Given the description of an element on the screen output the (x, y) to click on. 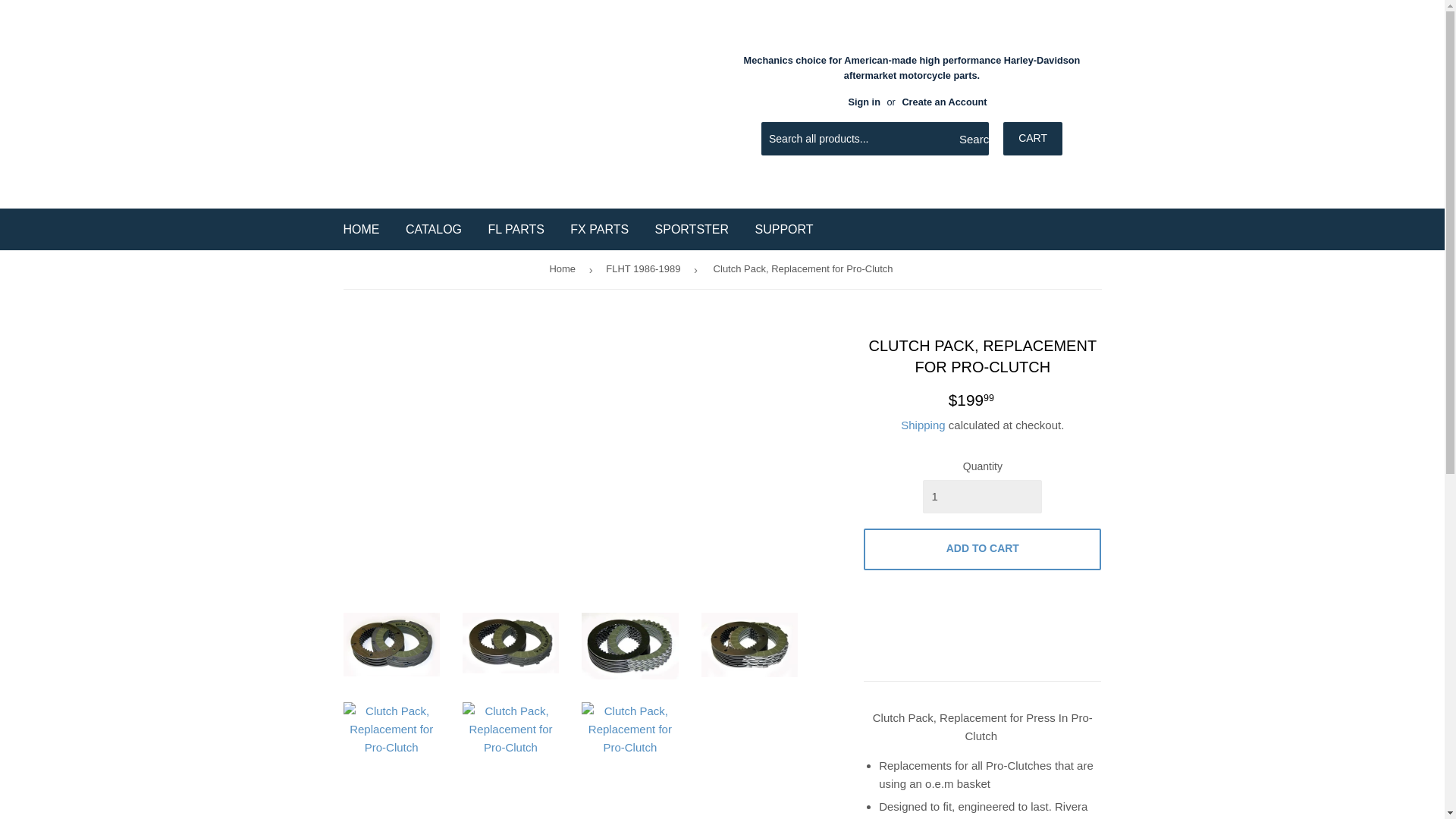
Search (971, 139)
FL PARTS (515, 229)
CART (1032, 138)
Sign in (863, 101)
HOME (361, 229)
1 (982, 496)
CATALOG (433, 229)
Create an Account (944, 101)
